Given the description of an element on the screen output the (x, y) to click on. 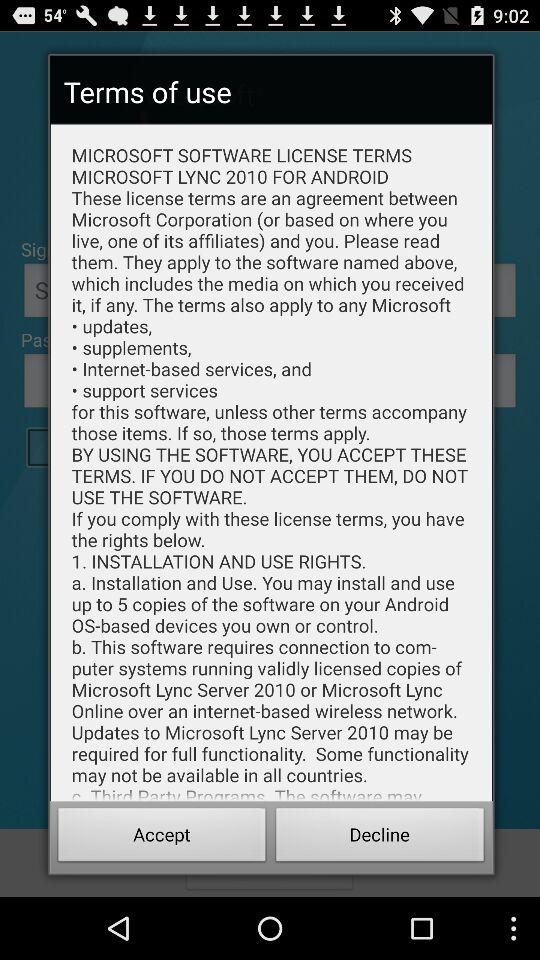
click item next to the accept item (380, 837)
